Given the description of an element on the screen output the (x, y) to click on. 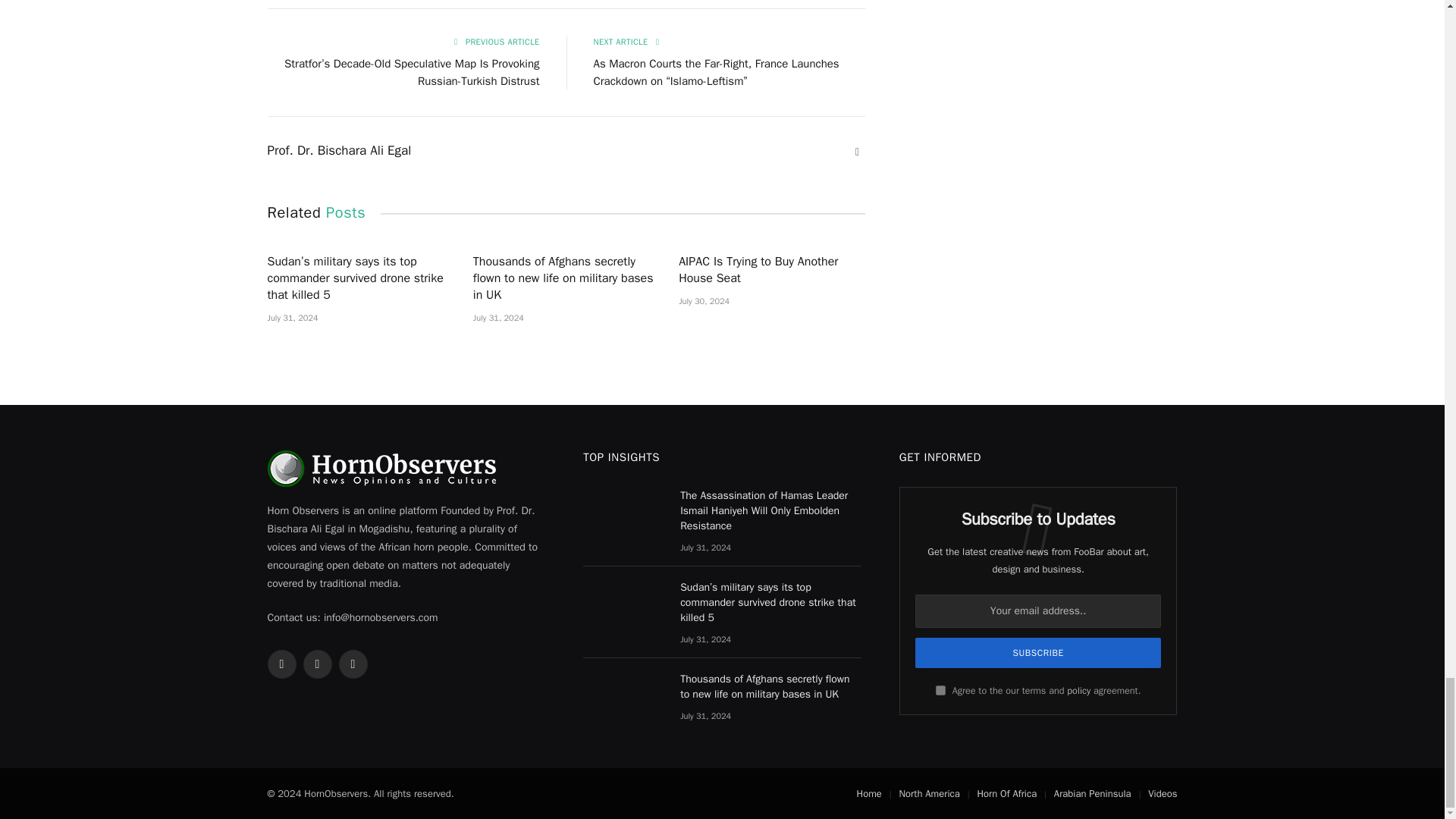
Subscribe (1038, 653)
on (940, 690)
